Given the description of an element on the screen output the (x, y) to click on. 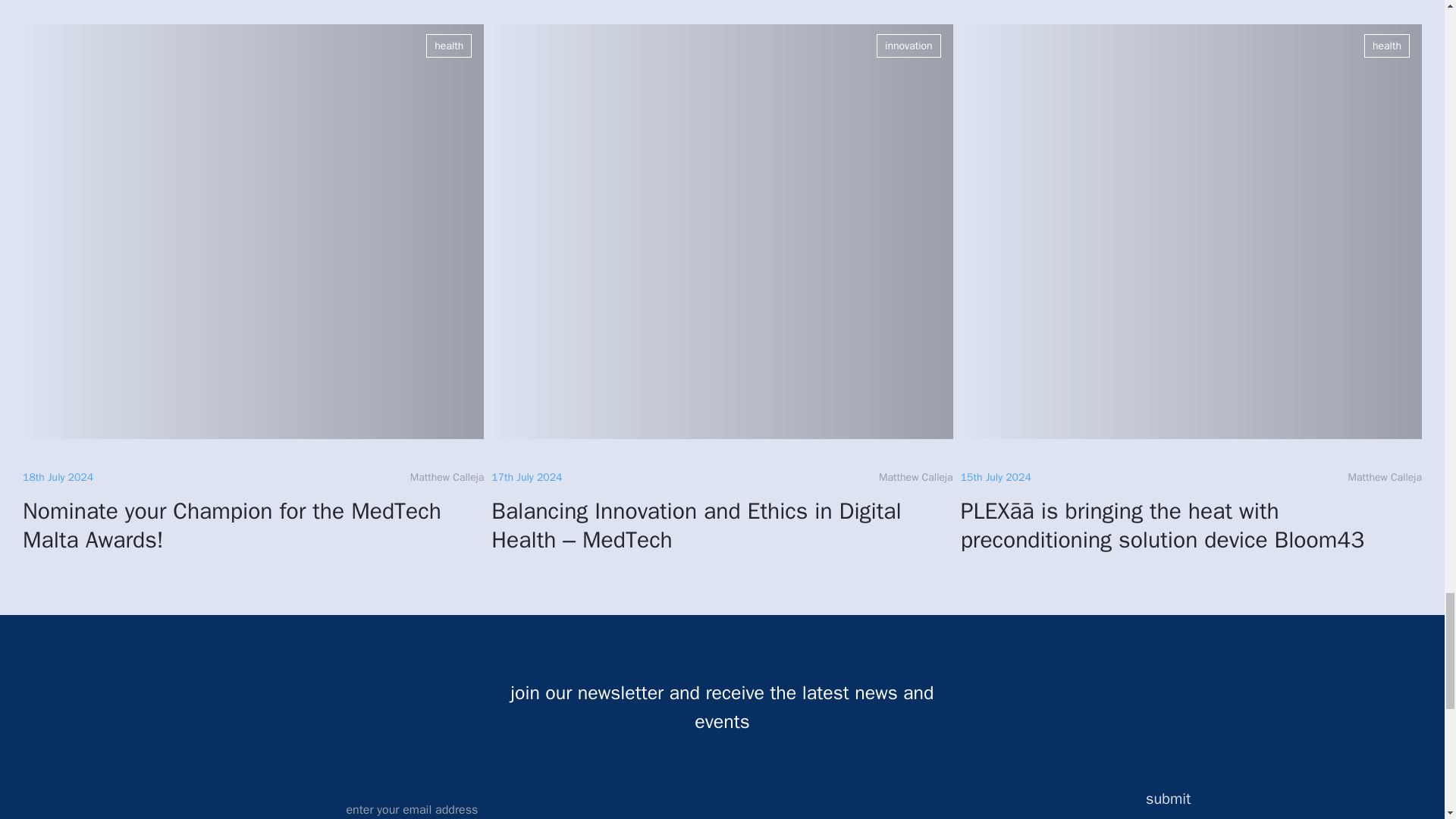
submit (1174, 798)
innovation (908, 45)
health (448, 45)
health (1386, 45)
